Given the description of an element on the screen output the (x, y) to click on. 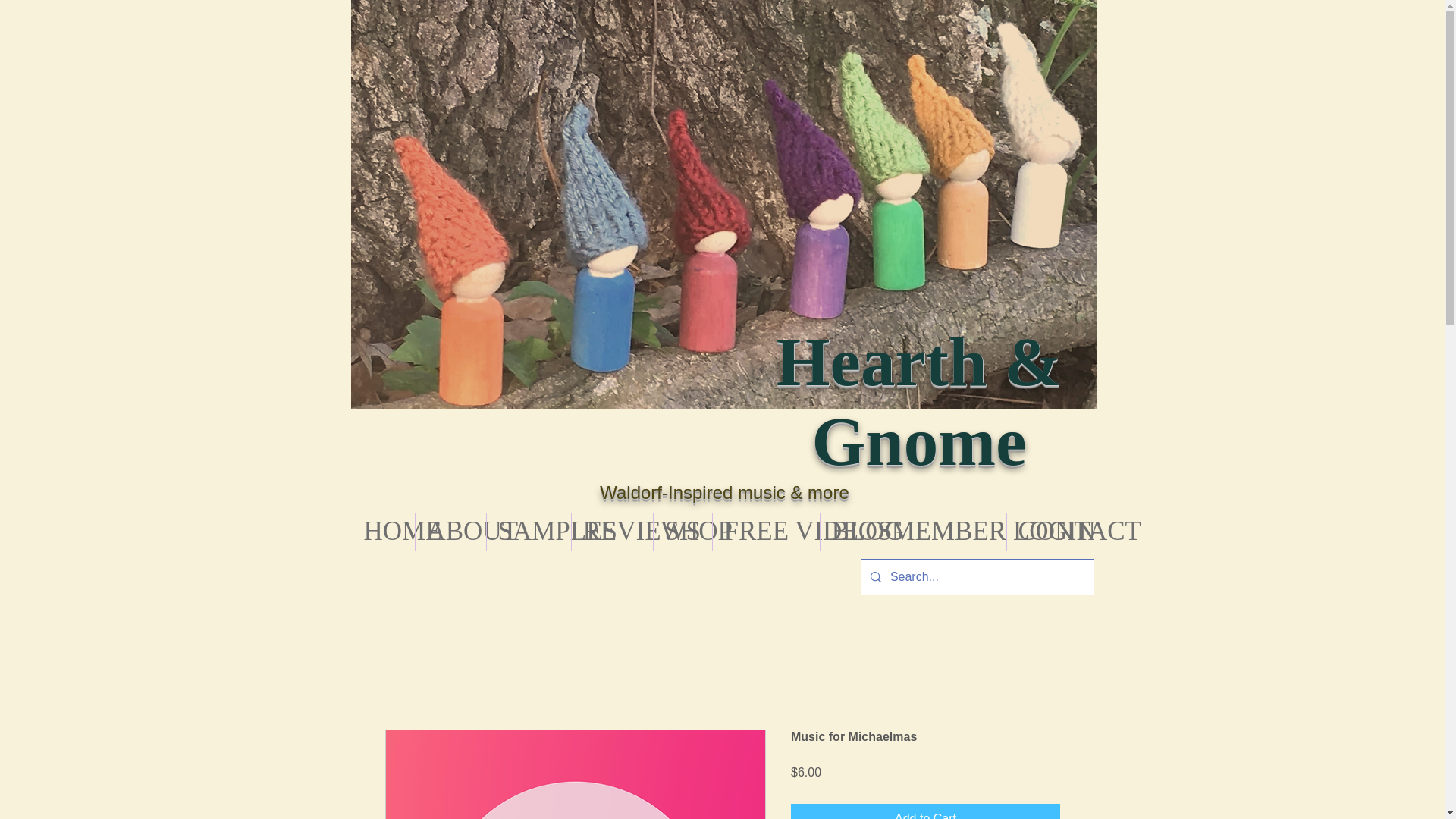
SHOP (682, 531)
BLOG (850, 531)
REVIEWS (612, 531)
SAMPLES (528, 531)
Add to Cart (924, 811)
HOME (382, 531)
CONTACT (1050, 531)
ABOUT (450, 531)
MEMBER LOGIN (942, 531)
FREE VIDEOS (766, 531)
